Given the description of an element on the screen output the (x, y) to click on. 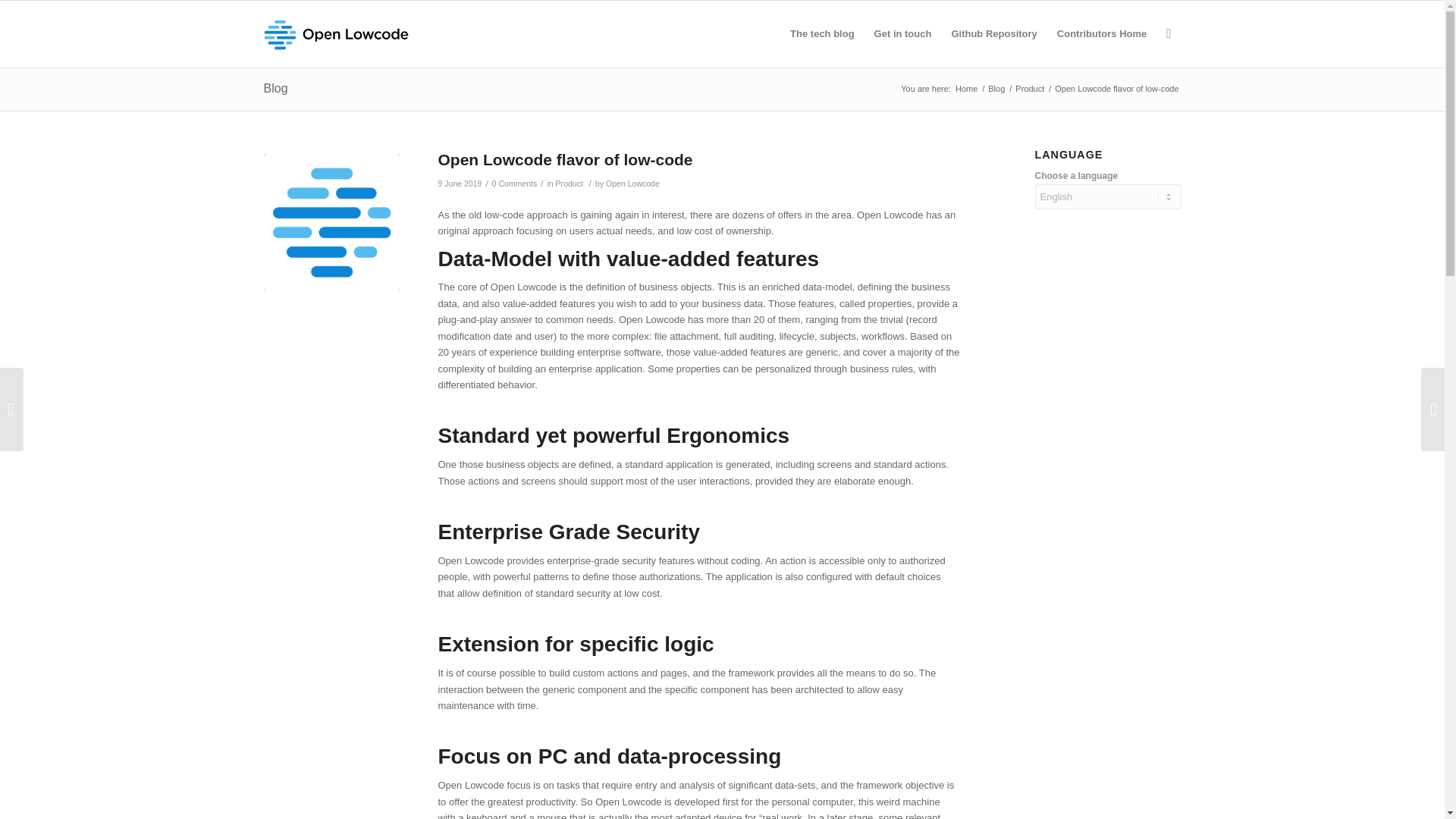
Blog (275, 88)
Contributors Home (1101, 33)
logowithwhiteborder (331, 221)
Home (966, 89)
Open Lowcode (966, 89)
Product (1029, 89)
Permanent Link: Blog (275, 88)
The tech blog (822, 33)
0 Comments (514, 183)
Github Repository (993, 33)
Posts by Open Lowcode (632, 183)
Open Lowcode flavor of low-code (565, 159)
Open Lowcode (632, 183)
Permanent Link: Open Lowcode flavor of low-code (565, 159)
Product (569, 183)
